Given the description of an element on the screen output the (x, y) to click on. 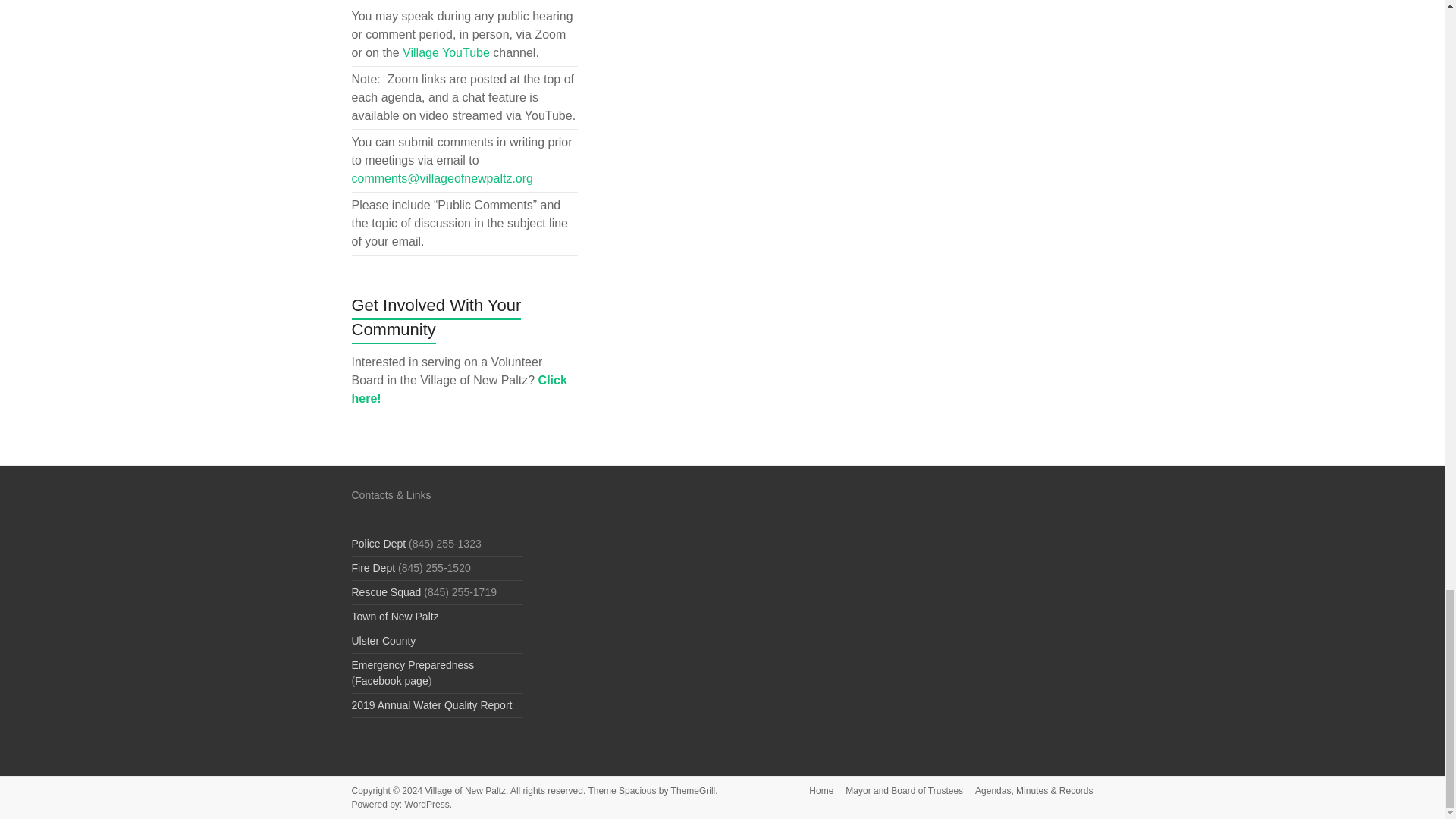
WordPress (426, 804)
Village of New Paltz (465, 790)
Spacious (637, 790)
